Given the description of an element on the screen output the (x, y) to click on. 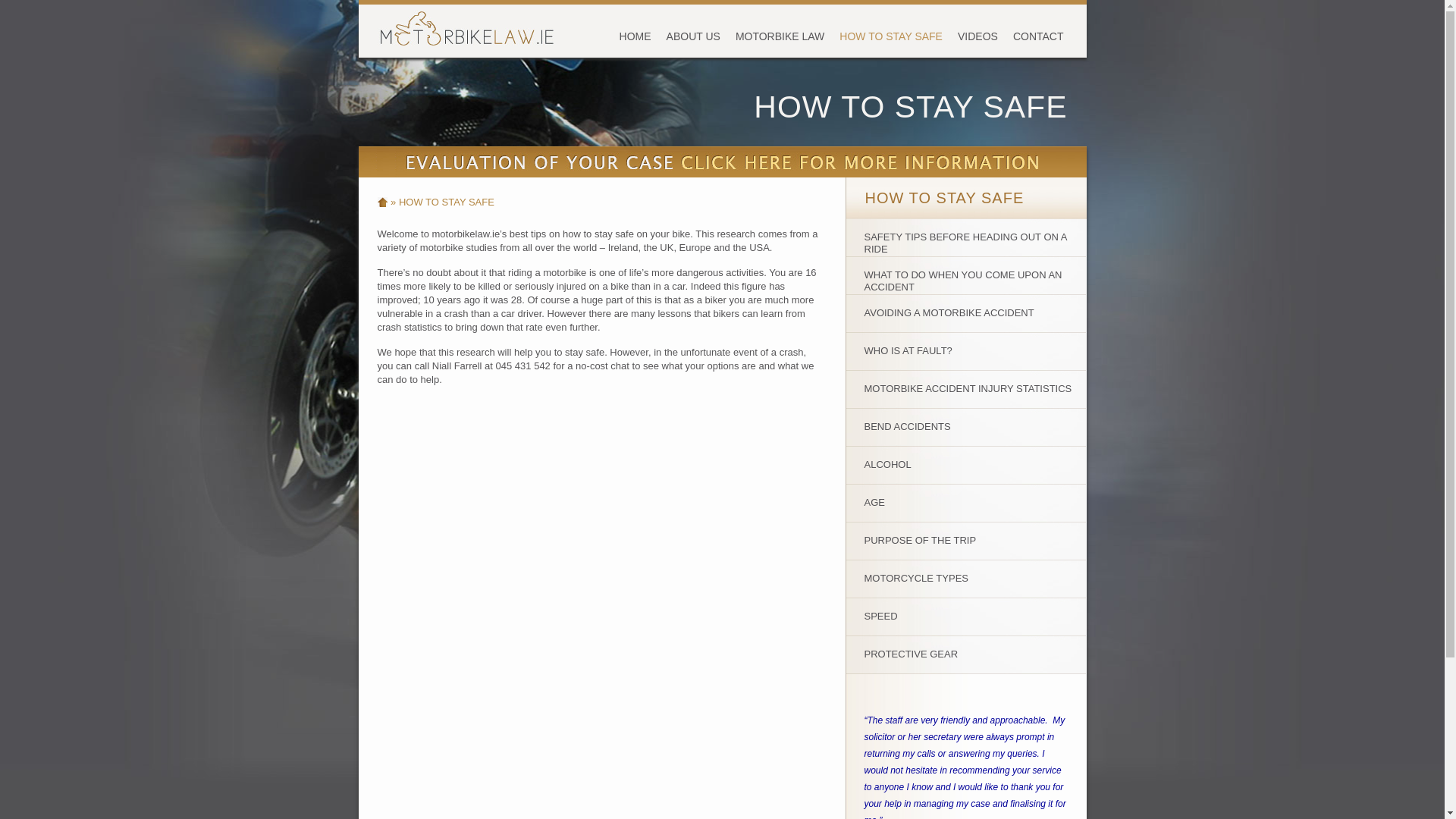
HOME (635, 36)
AVOIDING A MOTORBIKE ACCIDENT (964, 313)
MOTORBIKE LAW (779, 36)
WHAT TO DO WHEN YOU COME UPON AN ACCIDENT (964, 275)
CONTACT (1038, 36)
SAFETY TIPS BEFORE HEADING OUT ON A RIDE (964, 238)
VIDEOS (978, 36)
ABOUT US (693, 36)
HOME (382, 201)
HOW TO STAY SAFE (943, 197)
HOW TO STAY SAFE (890, 36)
WHO IS AT FAULT? (964, 351)
